Given the description of an element on the screen output the (x, y) to click on. 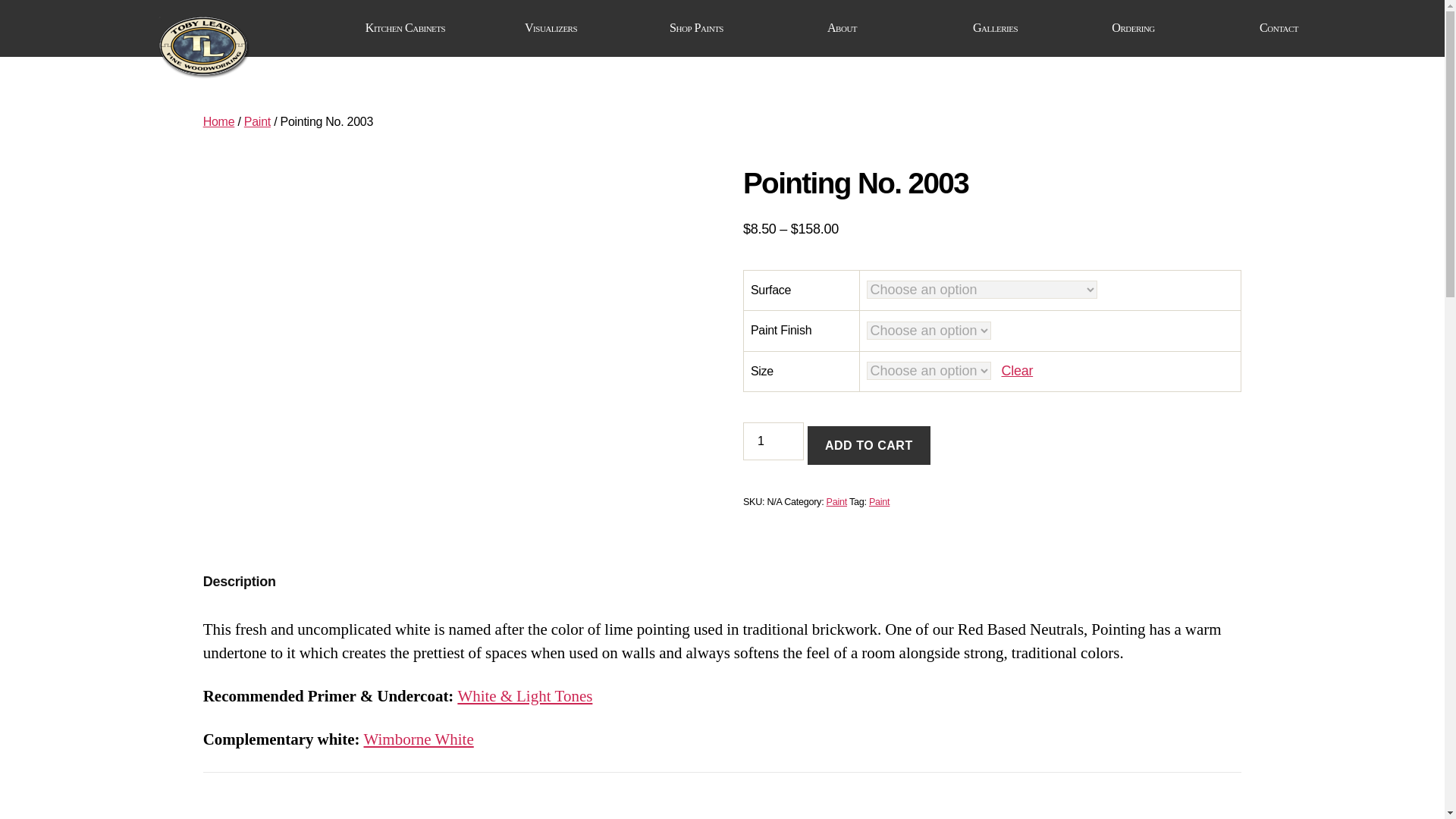
About (849, 28)
Ordering (1140, 28)
Shop Paints (703, 28)
Contact (1286, 28)
Kitchen Cabinets (412, 28)
Visualizers (558, 28)
1 (772, 441)
Galleries (994, 28)
